Given the description of an element on the screen output the (x, y) to click on. 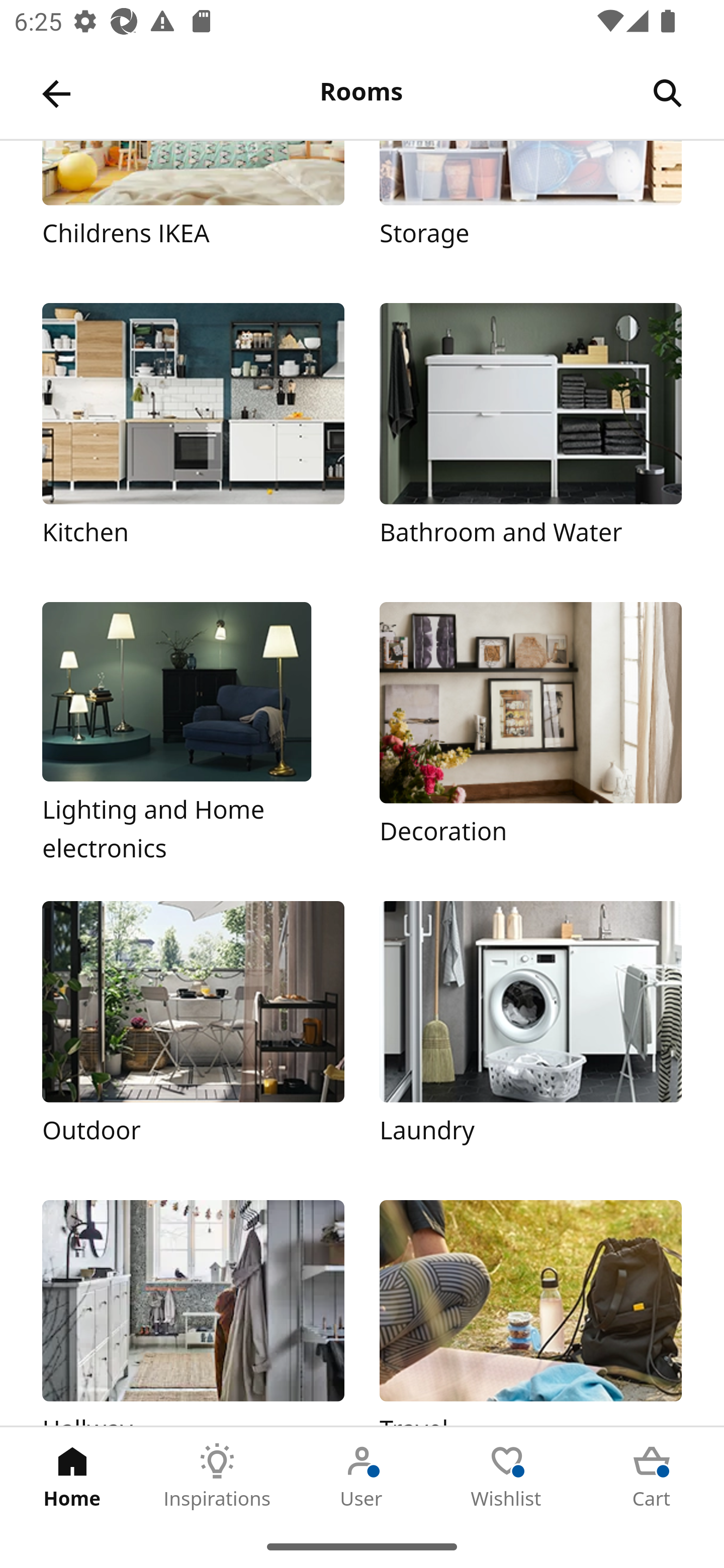
Childrens IKEA (192, 204)
Storage (530, 204)
Kitchen (192, 434)
Bathroom and Water (530, 434)
Lighting and Home electronics (192, 733)
Decoration (530, 733)
Outdoor (192, 1033)
Laundry (530, 1033)
Hallway (192, 1312)
Travel (530, 1312)
Home
Tab 1 of 5 (72, 1476)
Inspirations
Tab 2 of 5 (216, 1476)
User
Tab 3 of 5 (361, 1476)
Wishlist
Tab 4 of 5 (506, 1476)
Cart
Tab 5 of 5 (651, 1476)
